Given the description of an element on the screen output the (x, y) to click on. 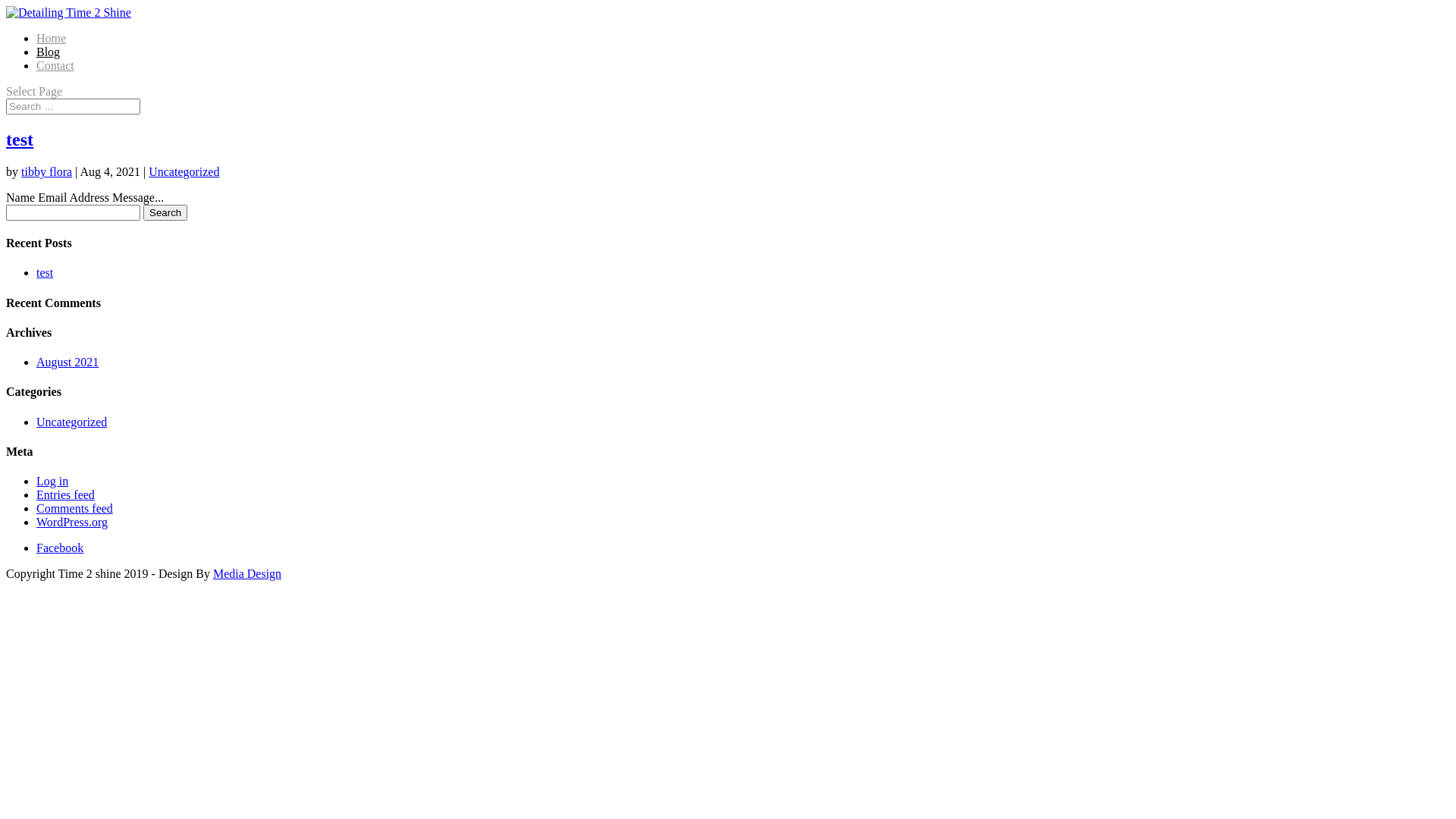
Media Design Element type: text (247, 573)
Entries feed Element type: text (65, 494)
Facebook Element type: text (59, 547)
test Element type: text (19, 139)
Blog Element type: text (47, 51)
Home Element type: text (50, 37)
Comments feed Element type: text (74, 508)
WordPress.org Element type: text (71, 521)
Uncategorized Element type: text (71, 421)
Uncategorized Element type: text (183, 171)
Search for: Element type: hover (73, 106)
Contact Element type: text (55, 65)
August 2021 Element type: text (67, 361)
tibby flora Element type: text (46, 171)
Log in Element type: text (52, 480)
test Element type: text (44, 272)
Search Element type: text (165, 212)
